Given the description of an element on the screen output the (x, y) to click on. 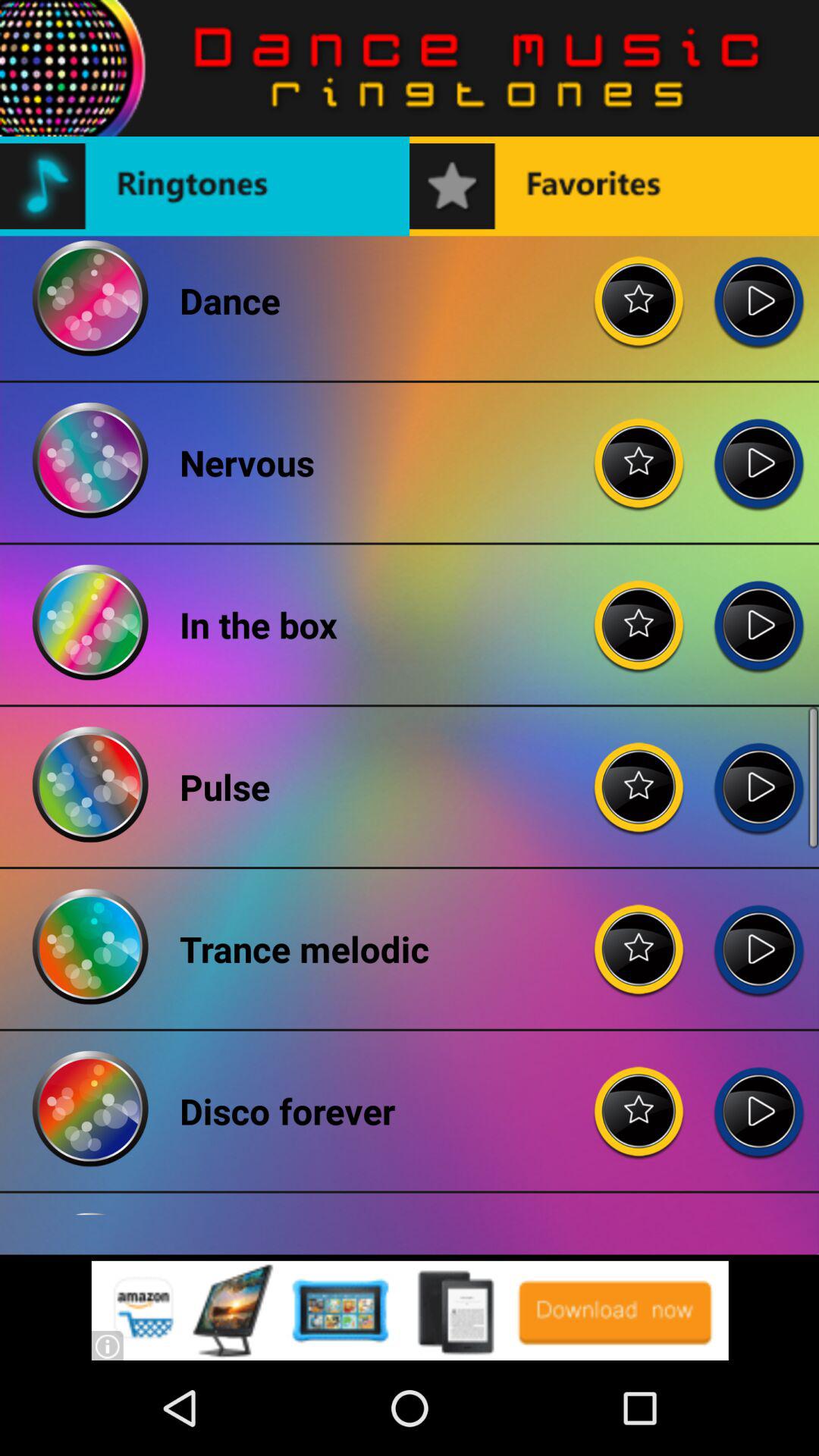
click to play option (758, 775)
